Given the description of an element on the screen output the (x, y) to click on. 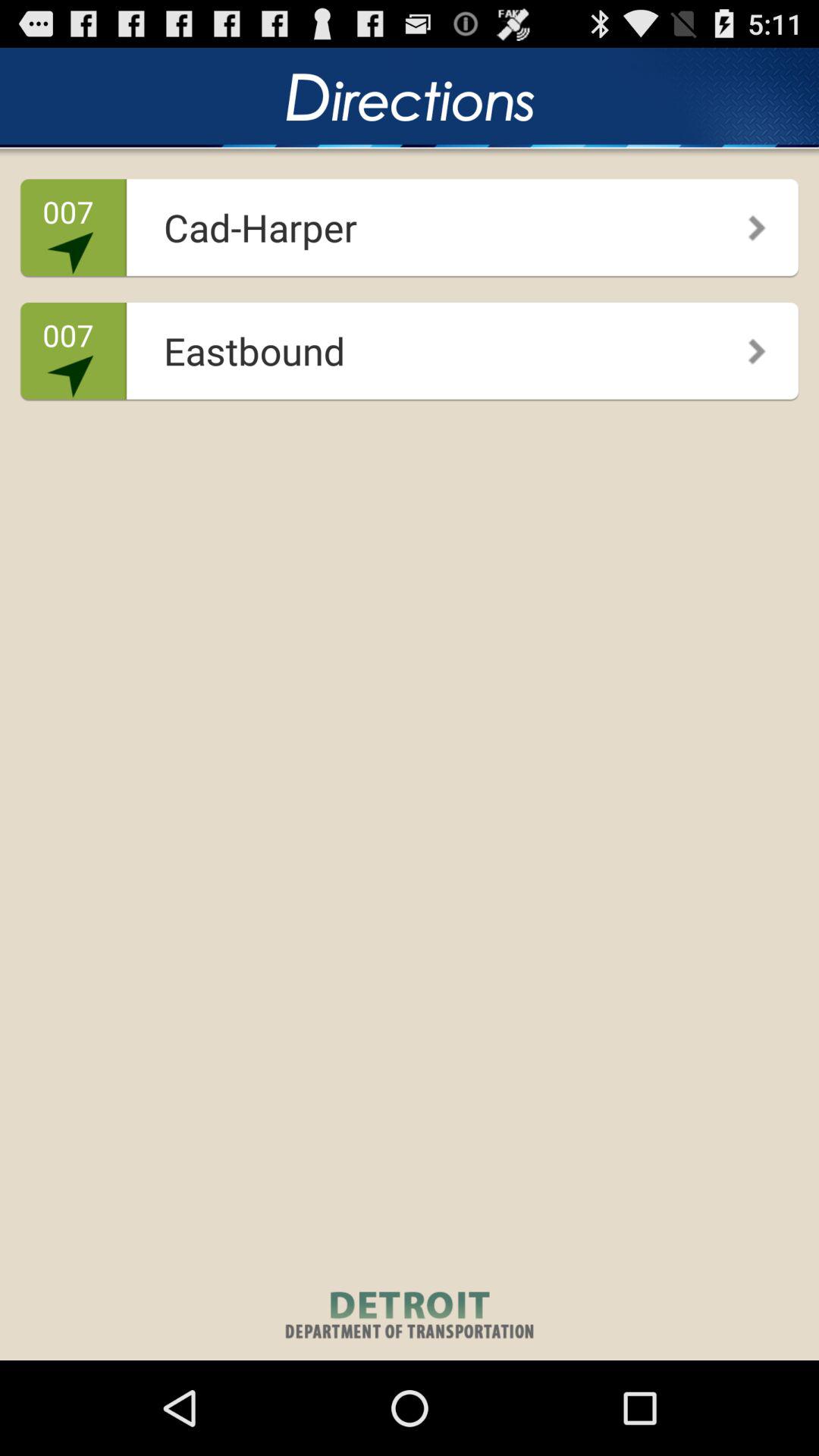
open app above the 007 icon (404, 222)
